Given the description of an element on the screen output the (x, y) to click on. 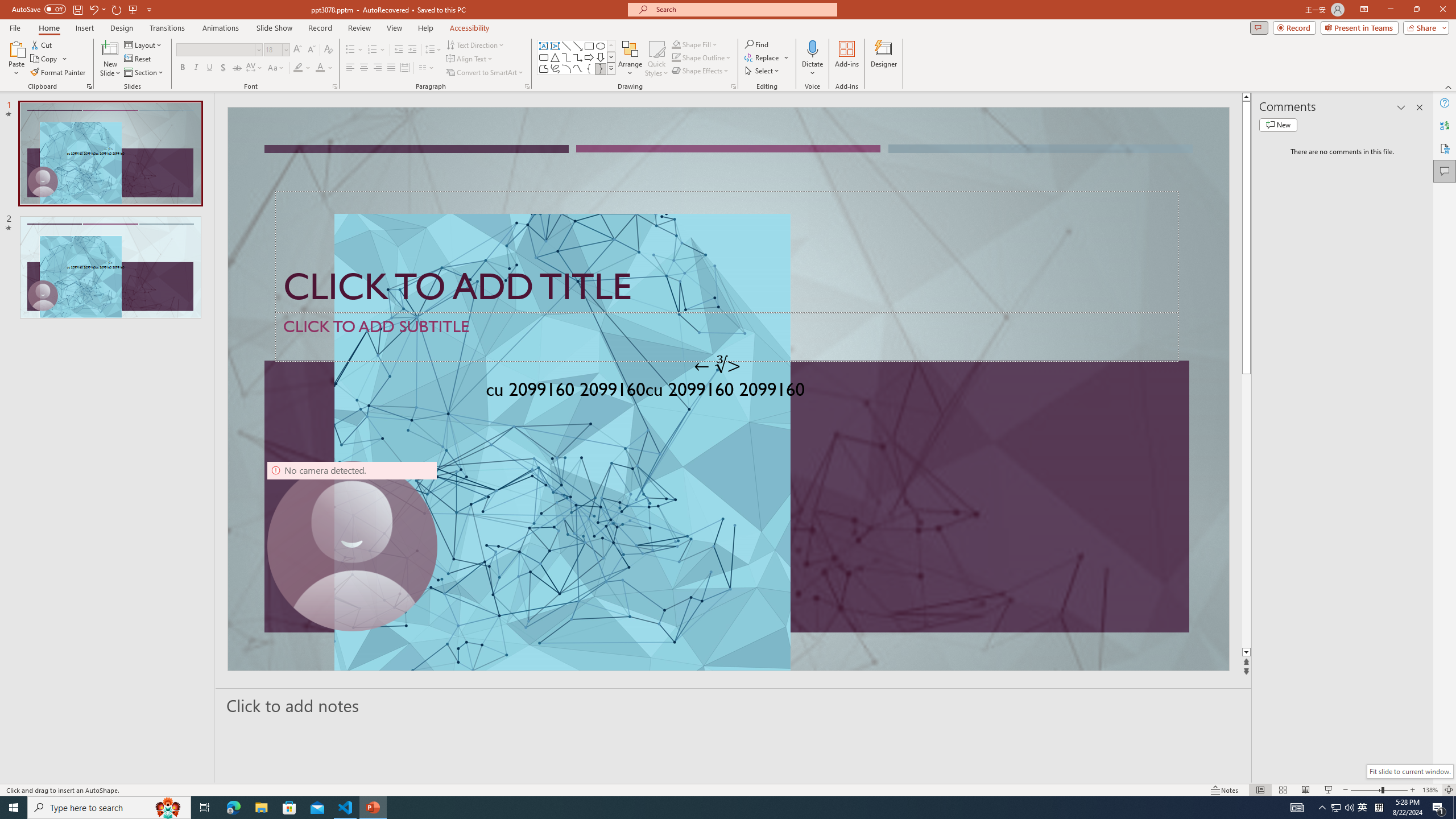
TextBox 61 (726, 391)
